Given the description of an element on the screen output the (x, y) to click on. 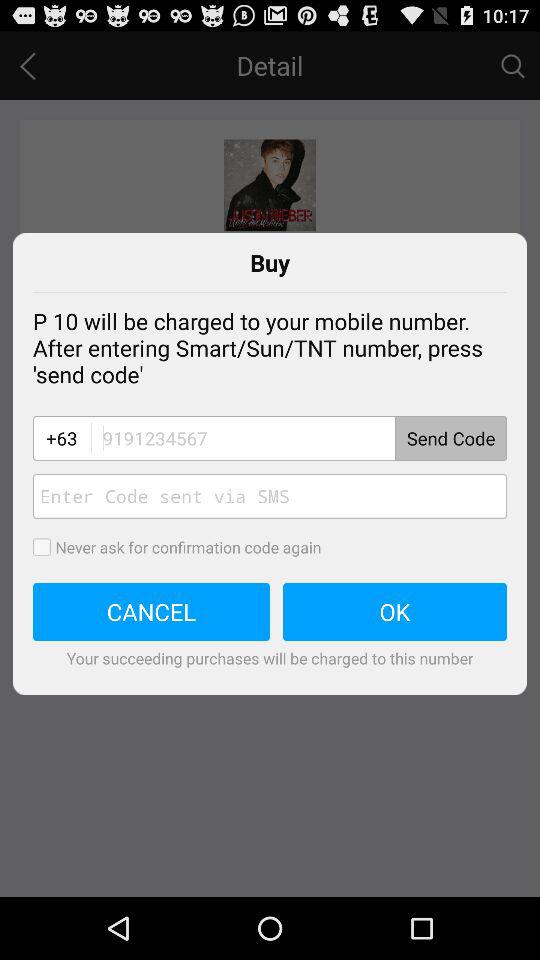
check to not ask for confirmation code (48, 547)
